Given the description of an element on the screen output the (x, y) to click on. 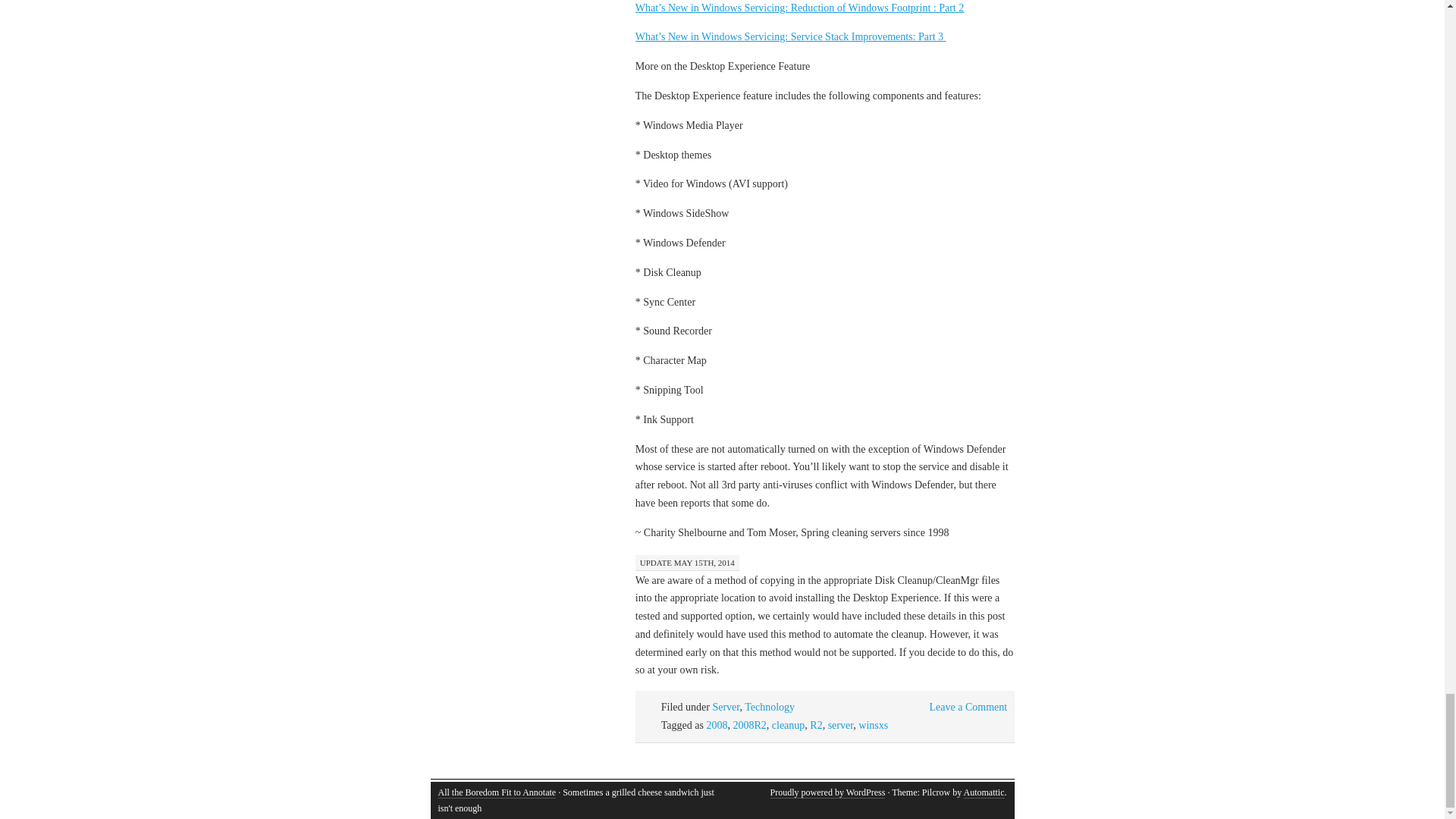
All the Boredom Fit to Annotate (497, 792)
Leave a Comment (968, 706)
A Semantic Personal Publishing Platform (827, 792)
Server (725, 706)
